Given the description of an element on the screen output the (x, y) to click on. 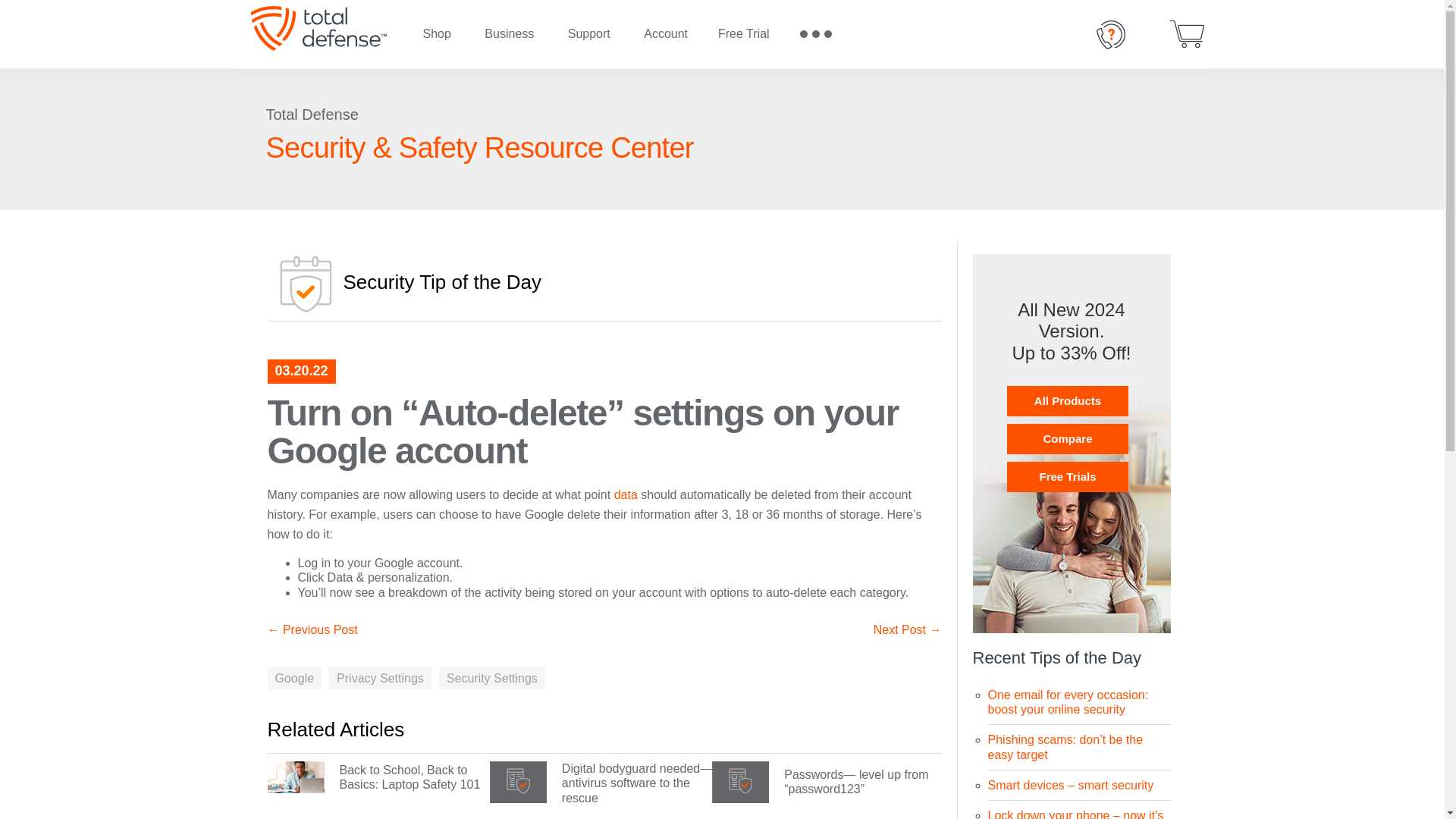
Support (589, 34)
Free Trial (743, 34)
Business (508, 34)
Account (665, 34)
